Given the description of an element on the screen output the (x, y) to click on. 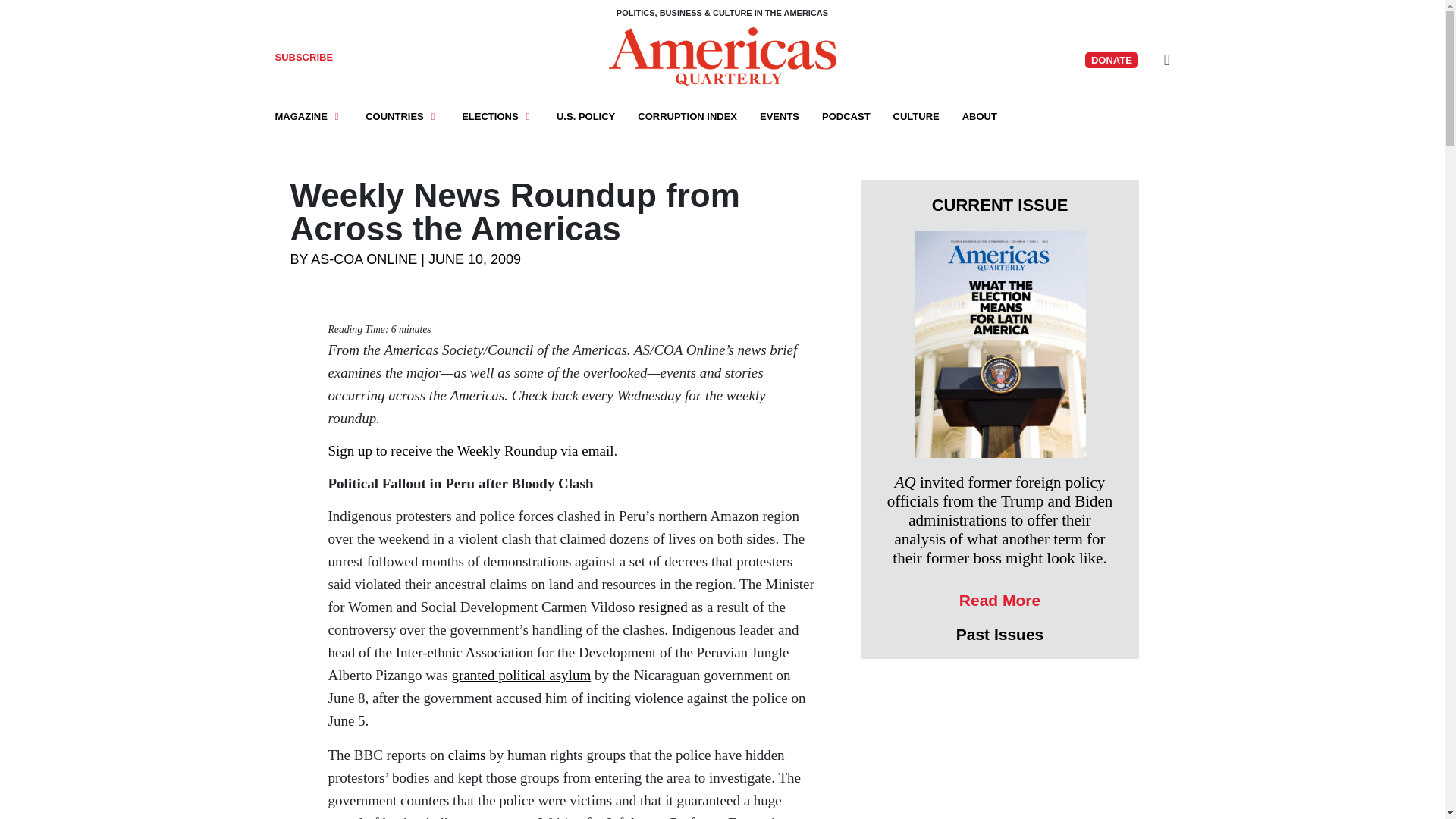
Americas Quarterly (721, 56)
DONATE (1111, 59)
Americas Quarterly (721, 54)
SUBSCRIBE (304, 57)
